Given the description of an element on the screen output the (x, y) to click on. 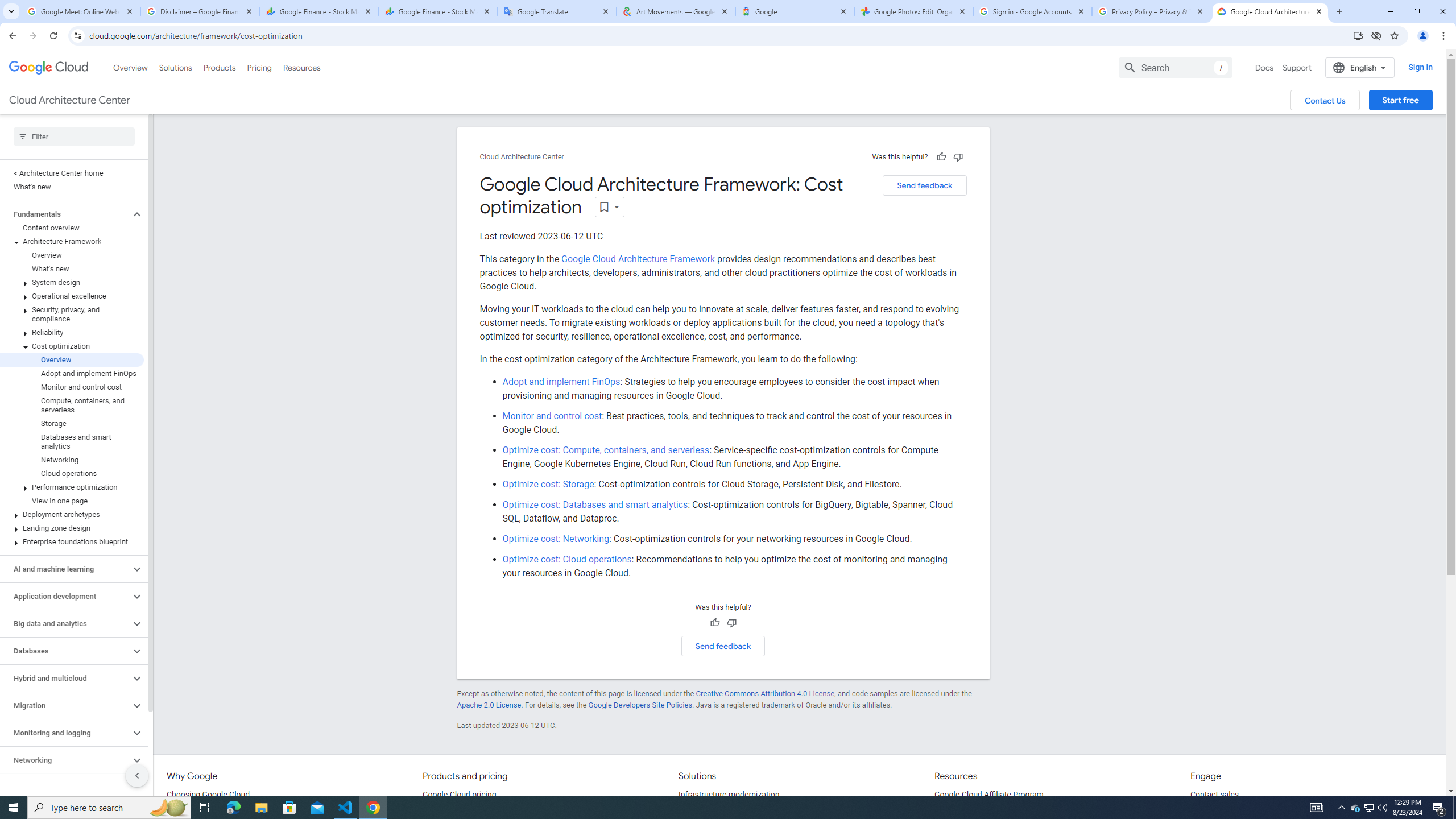
Google (794, 11)
Solutions (175, 67)
Send feedback (723, 645)
English (1359, 67)
Optimize cost: Storage (548, 484)
Networking (64, 760)
Databases (64, 650)
Support (1296, 67)
Compute, containers, and serverless (72, 404)
AI and machine learning (64, 568)
